Given the description of an element on the screen output the (x, y) to click on. 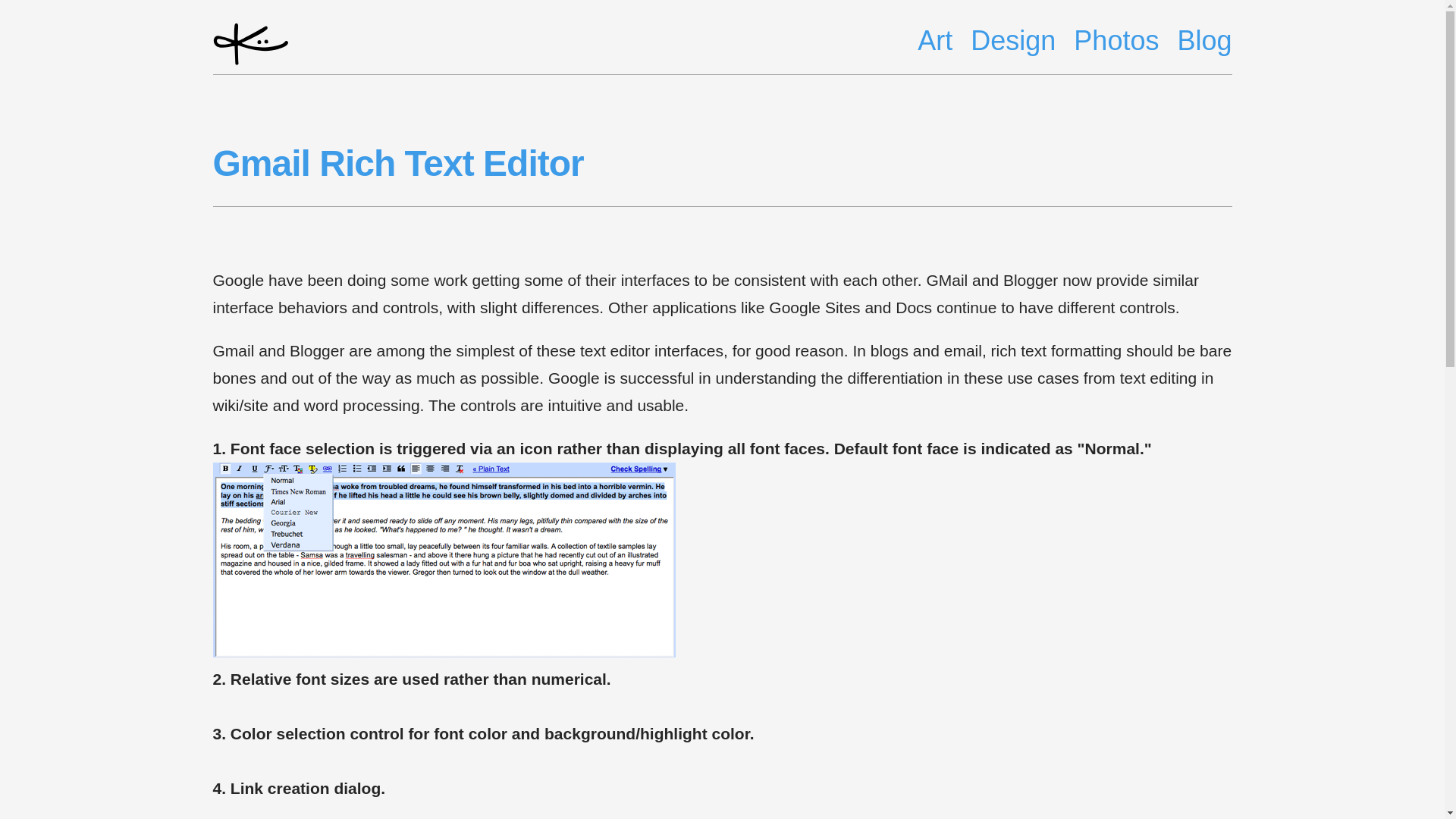
Design (1013, 40)
Blog (1203, 40)
Art (934, 40)
Photos (1116, 40)
